Given the description of an element on the screen output the (x, y) to click on. 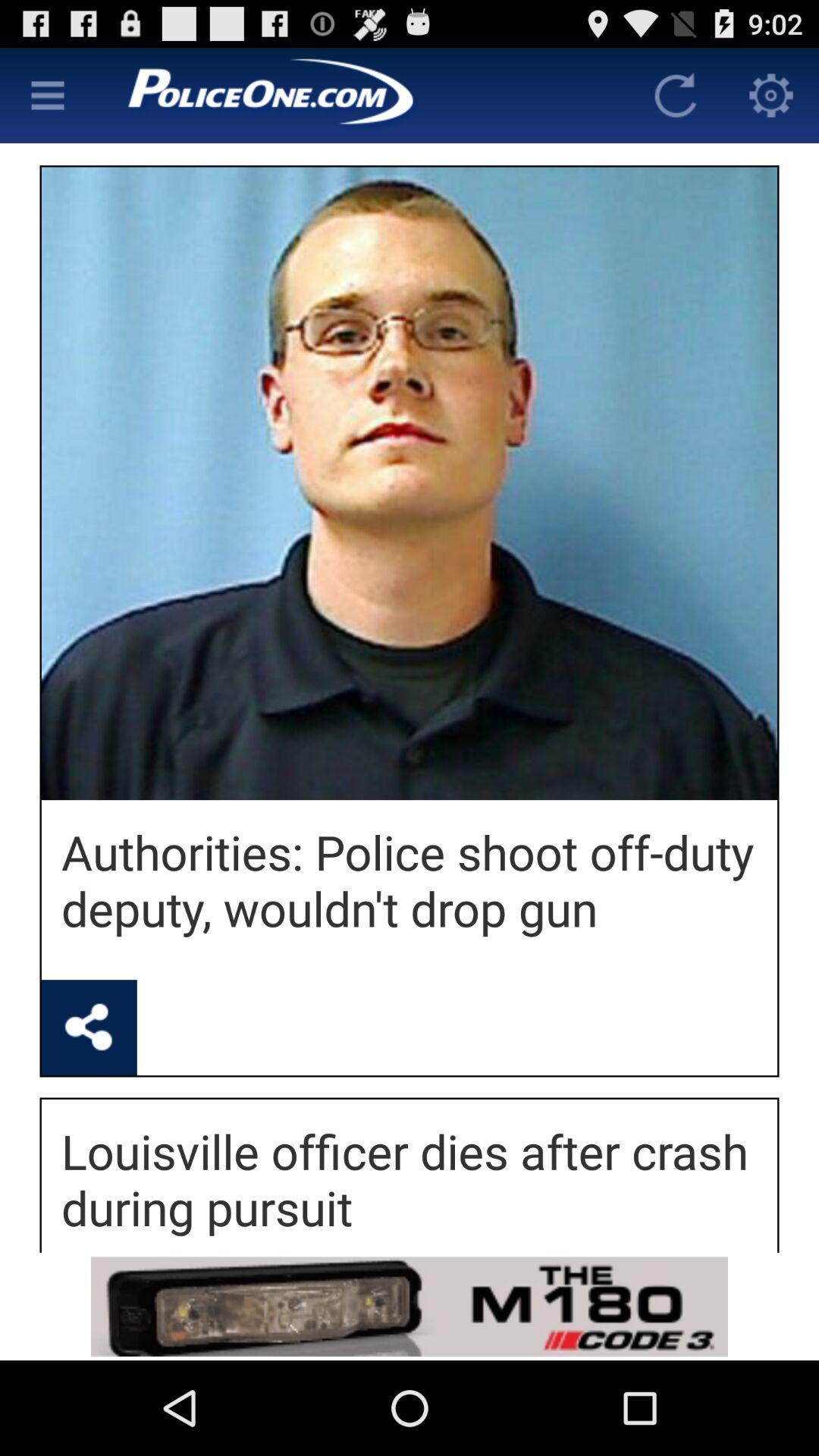
toggle the refresh option (675, 95)
